Given the description of an element on the screen output the (x, y) to click on. 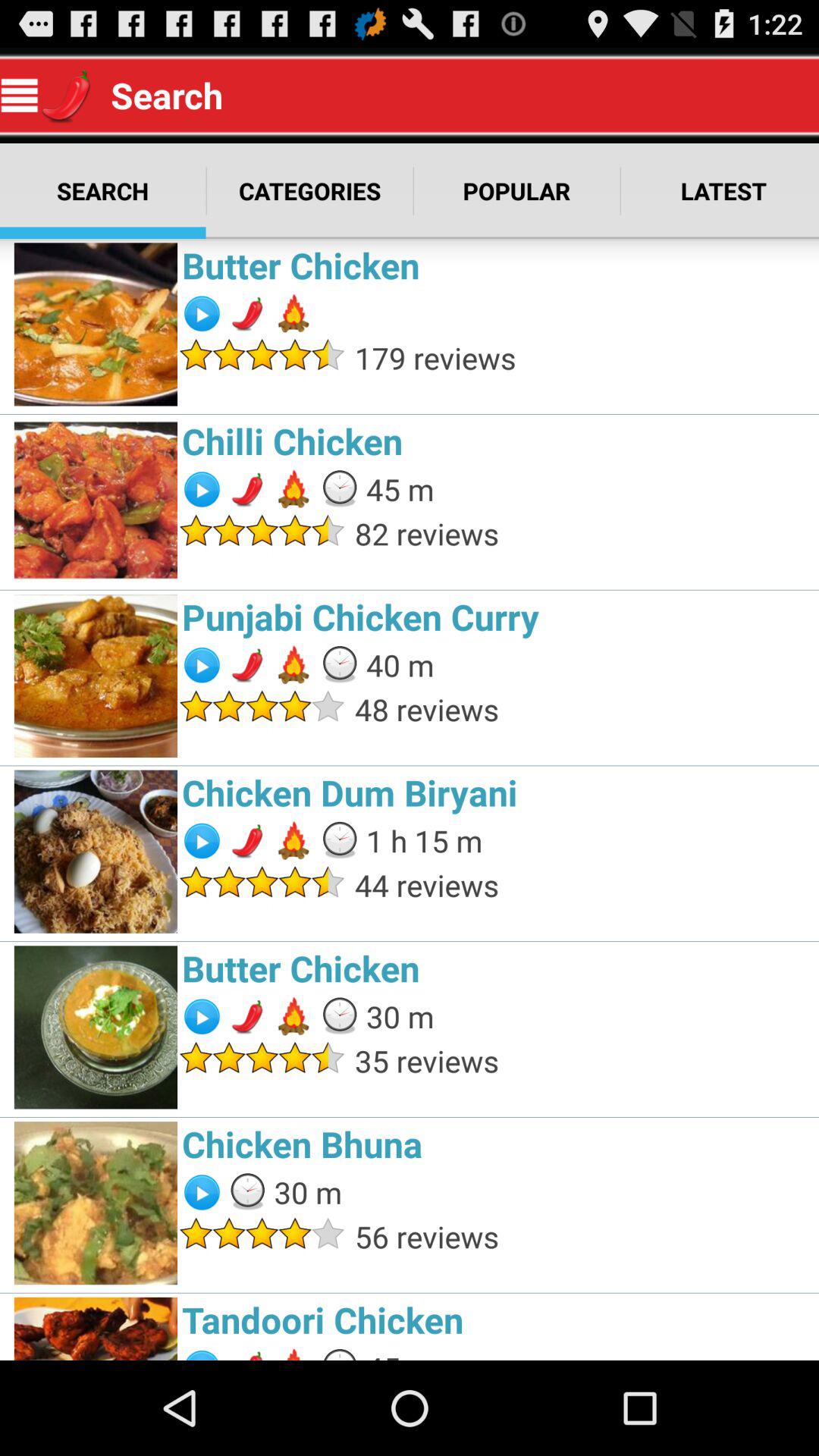
turn off 44 reviews item (582, 885)
